Given the description of an element on the screen output the (x, y) to click on. 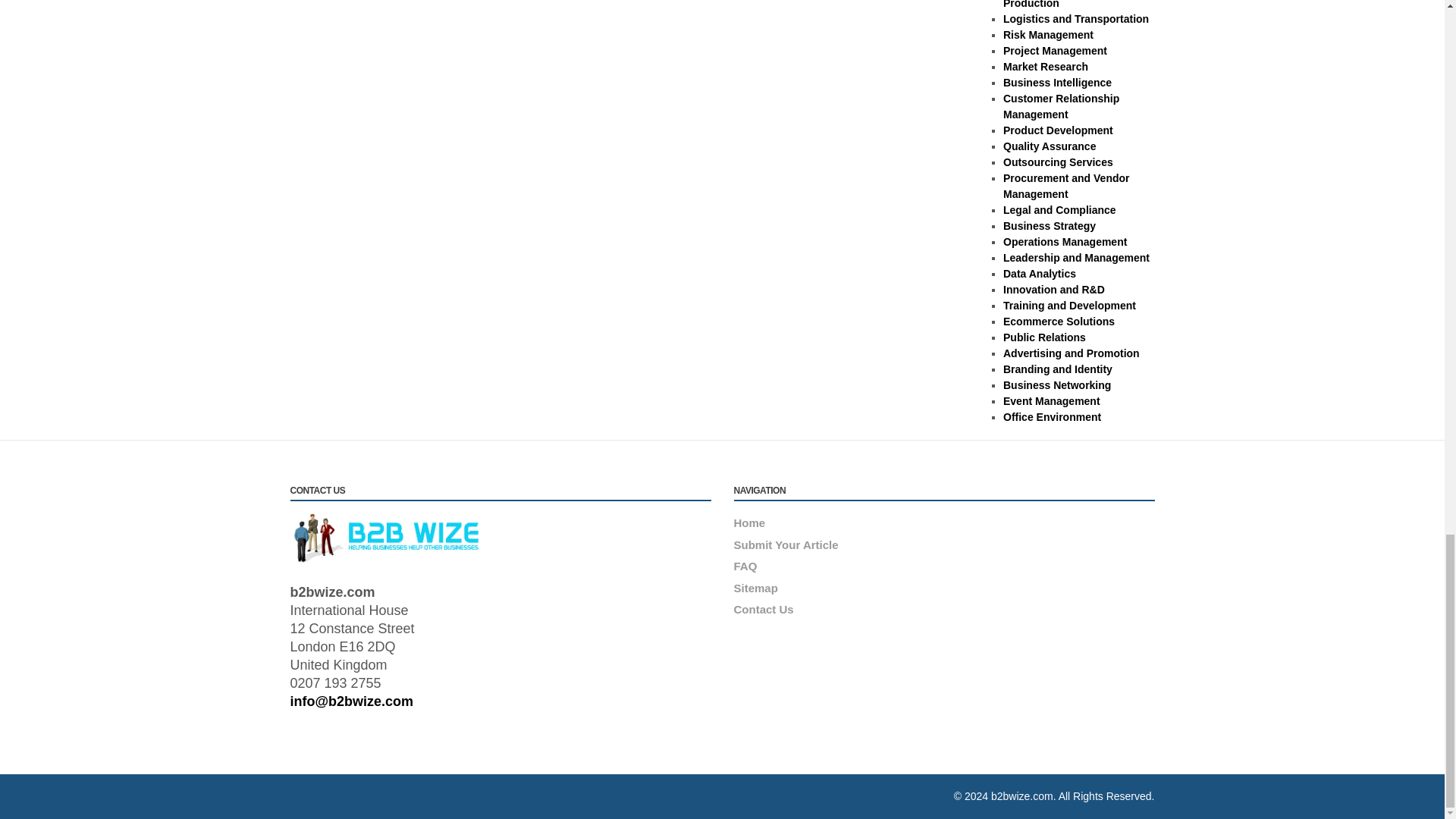
Manufacturing and Production (1050, 4)
Risk Management (1048, 34)
Project Management (1054, 50)
Logistics and Transportation (1075, 19)
